Given the description of an element on the screen output the (x, y) to click on. 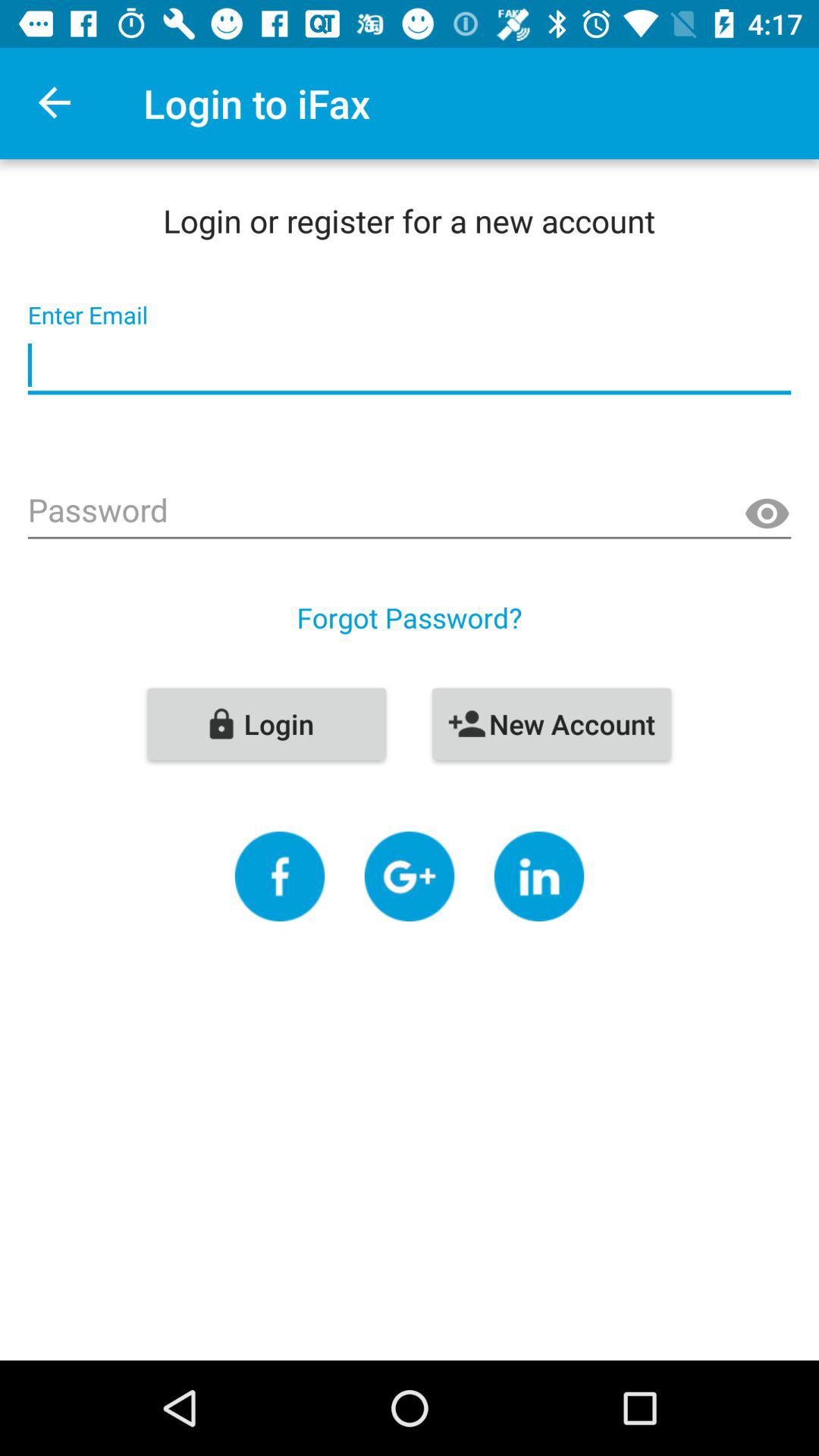
bring up keyboard to enter email (409, 365)
